Given the description of an element on the screen output the (x, y) to click on. 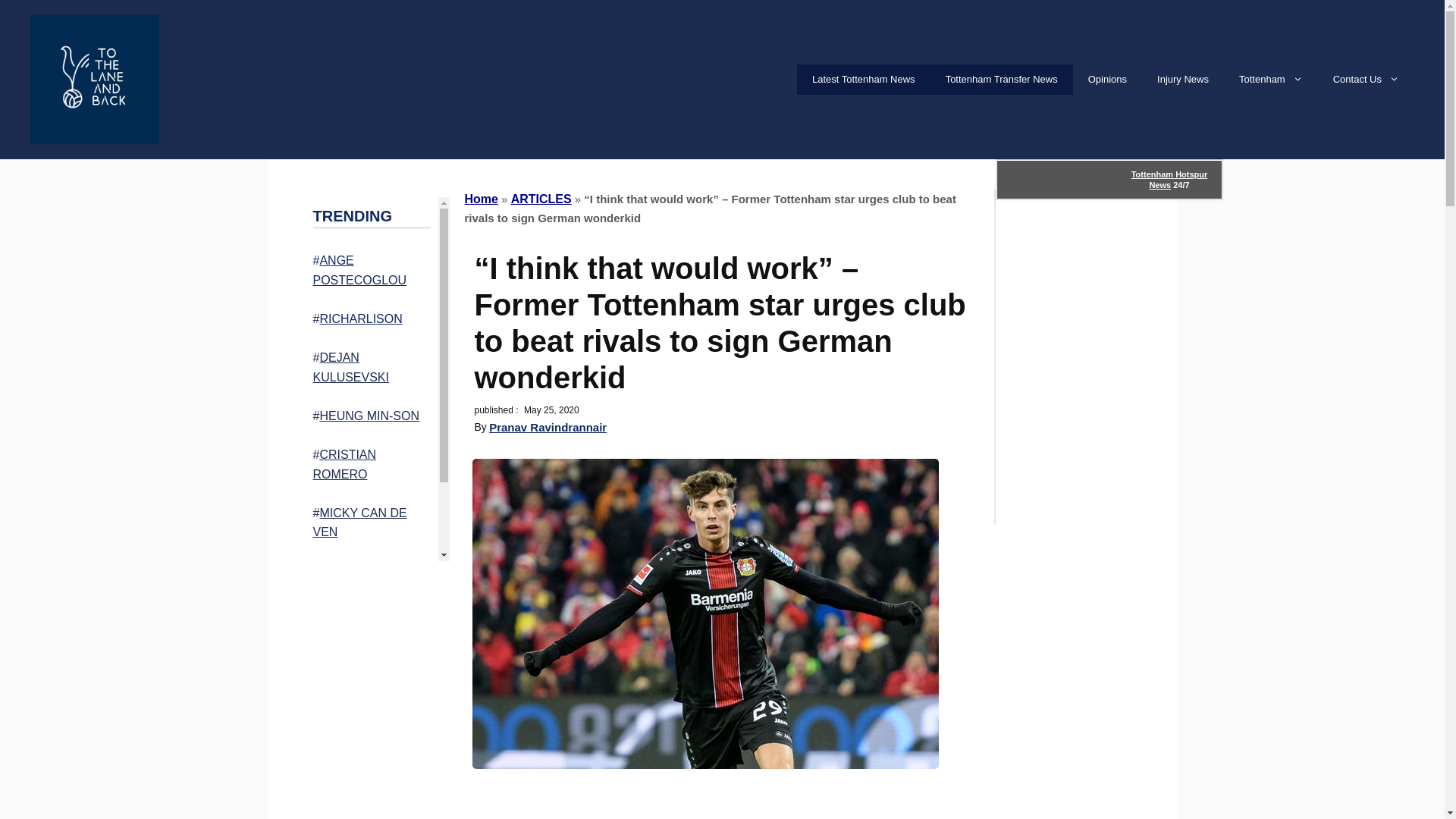
Home (480, 198)
Pranav Ravindrannair (548, 427)
RADU DRAGUSIN (369, 570)
Tottenham (1270, 79)
RICHARLISON (359, 318)
Tottenham Transfer News (1001, 79)
ANGE POSTECOGLOU (359, 269)
Tottenham Hotspur News (1169, 179)
Opinions (1107, 79)
CRISTIAN ROMERO (344, 463)
Contact Us (1365, 79)
ARTICLES (541, 198)
HEUNG MIN-SON (368, 415)
Latest Tottenham News (863, 79)
ARCHIE GRAY (366, 611)
